Given the description of an element on the screen output the (x, y) to click on. 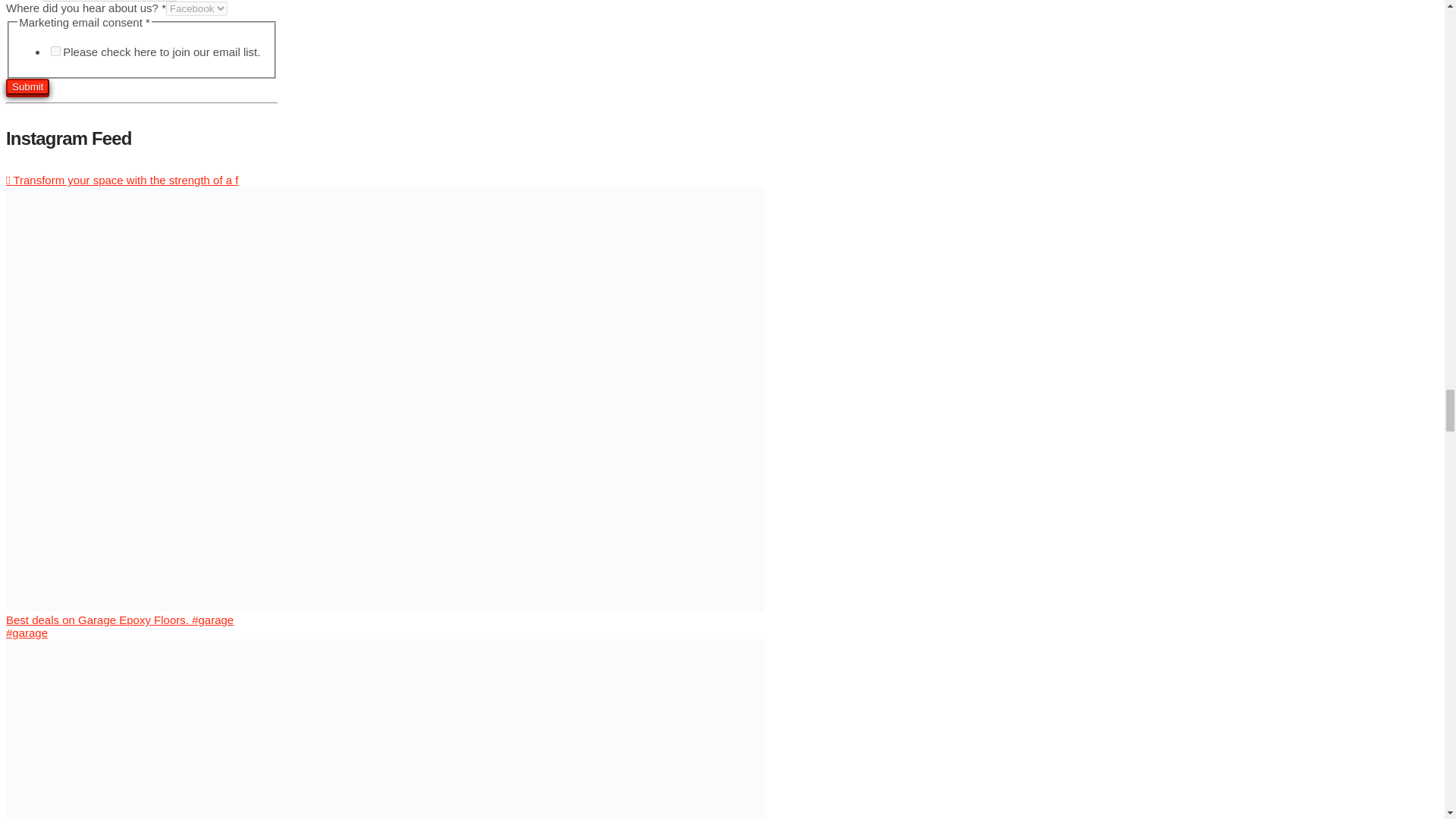
Please check here to join our email list. (55, 50)
